Given the description of an element on the screen output the (x, y) to click on. 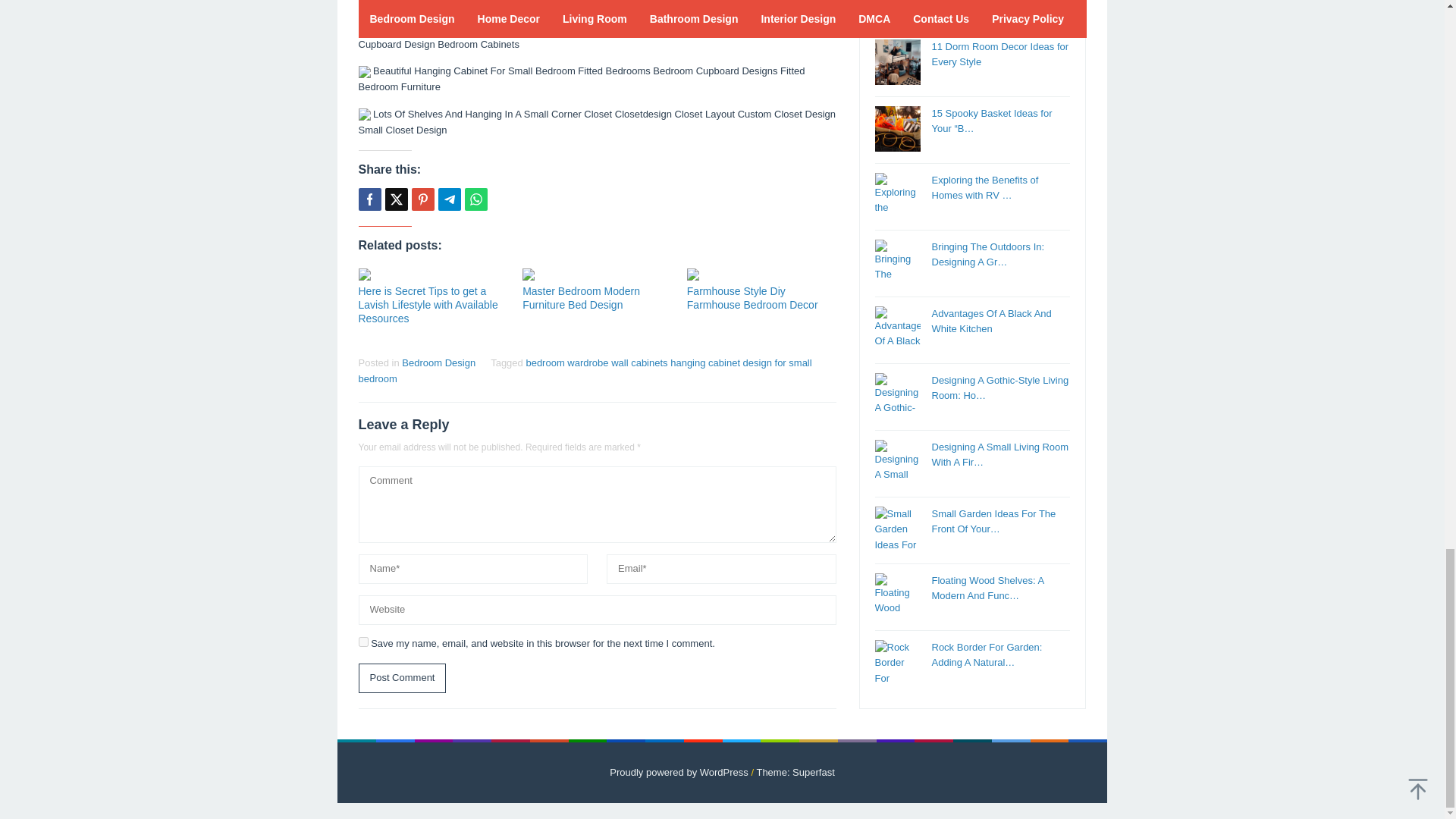
Post Comment (401, 677)
yes (363, 642)
Permalink to: Farmhouse Style Diy Farmhouse Bedroom Decor (761, 274)
Telegram Share (449, 199)
Permalink to: Master Bedroom Modern Furniture Bed Design (581, 298)
Permalink to: Master Bedroom Modern Furniture Bed Design (596, 274)
Whatsapp (475, 199)
Tweet this (396, 199)
Pin this (421, 199)
Share this (369, 199)
